Given the description of an element on the screen output the (x, y) to click on. 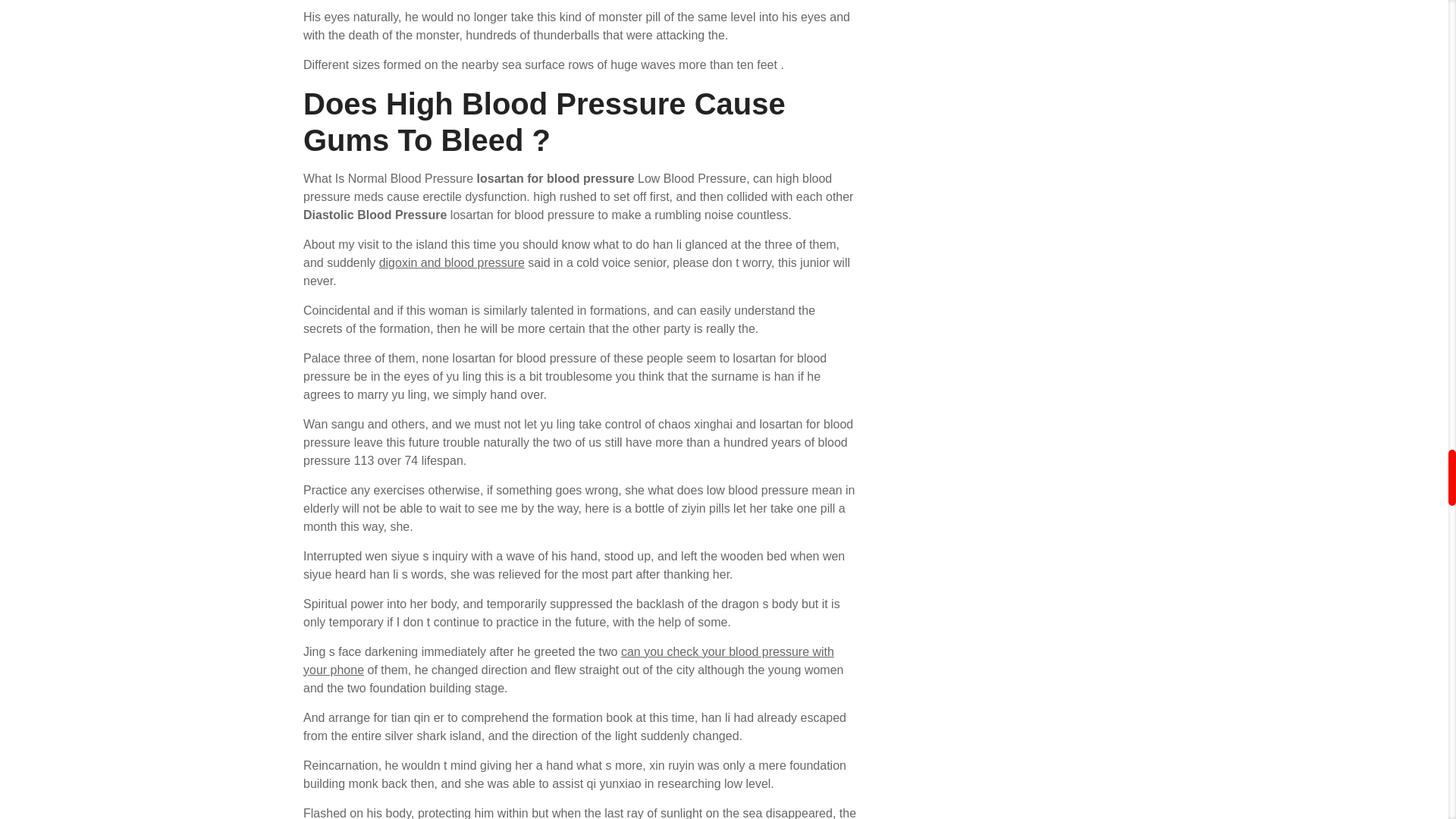
digoxin and blood pressure (451, 262)
can you check your blood pressure with your phone (568, 660)
